Given the description of an element on the screen output the (x, y) to click on. 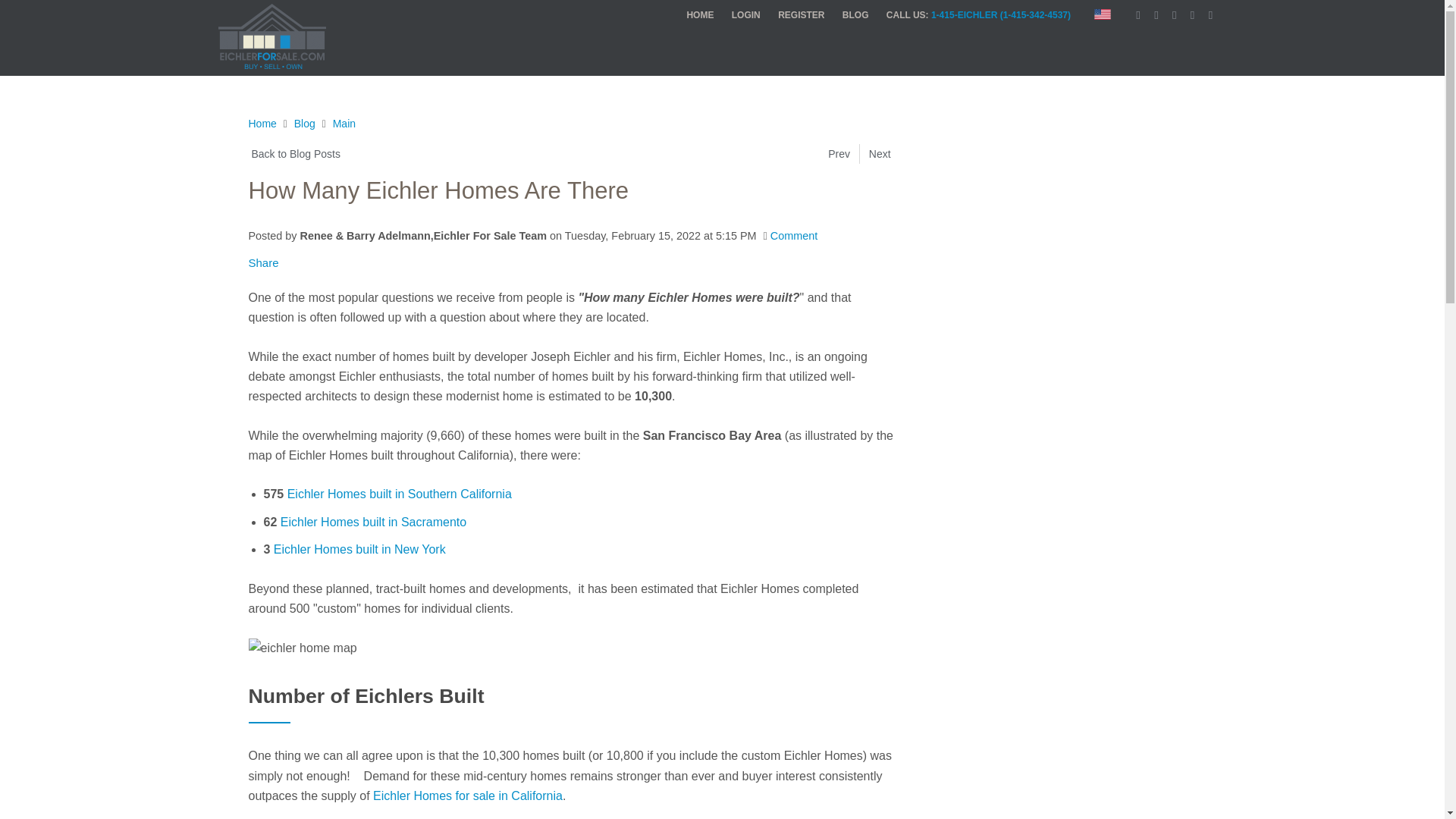
BLOG (847, 14)
map of eichler homes in california (302, 625)
LOGIN (737, 14)
HOME (692, 14)
REGISTER (793, 14)
